Given the description of an element on the screen output the (x, y) to click on. 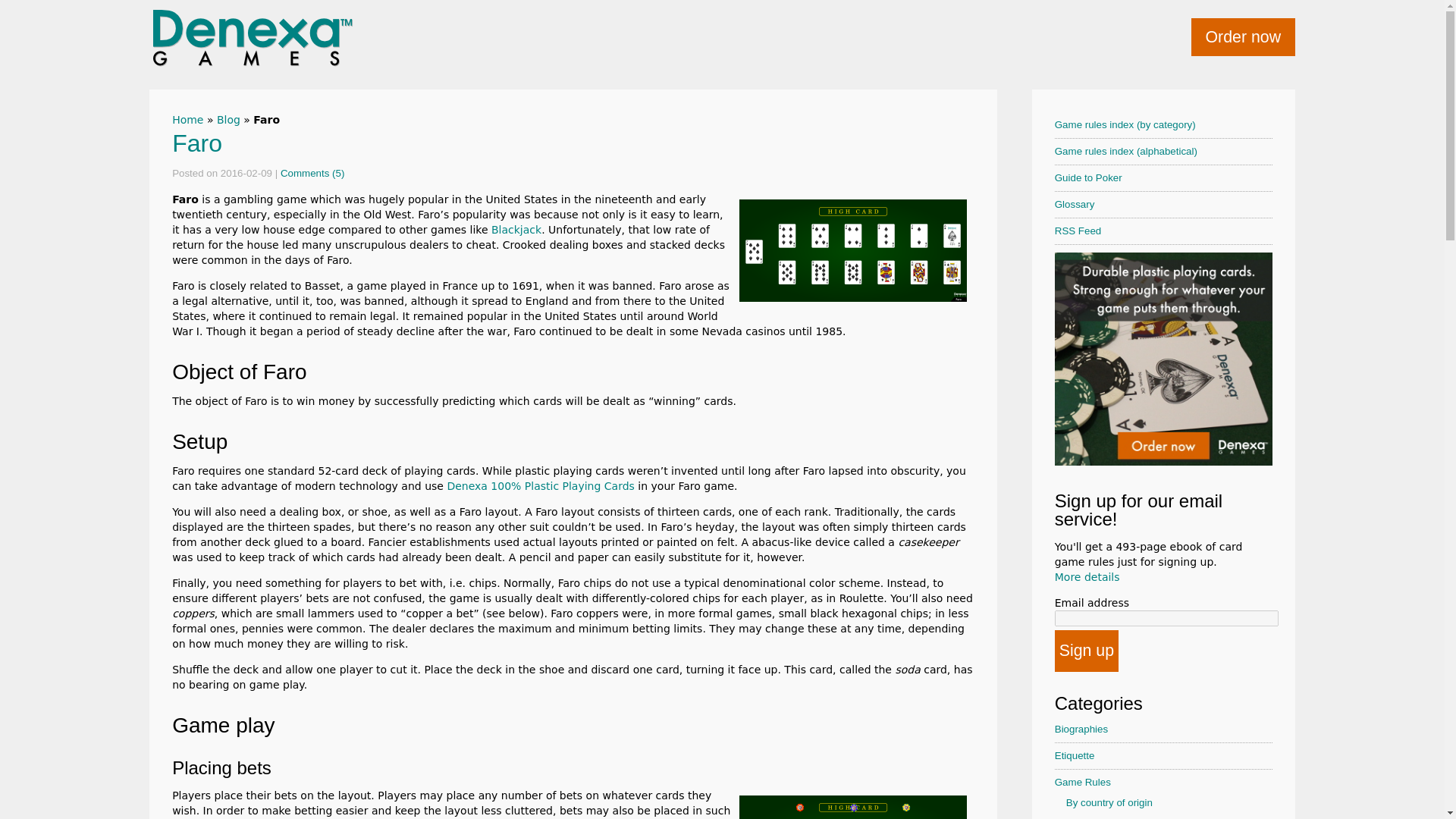
Home (187, 119)
Blog (228, 119)
Faro (196, 143)
Blackjack (516, 229)
Faro (196, 143)
Sign up (1086, 650)
Order now (1243, 36)
